Given the description of an element on the screen output the (x, y) to click on. 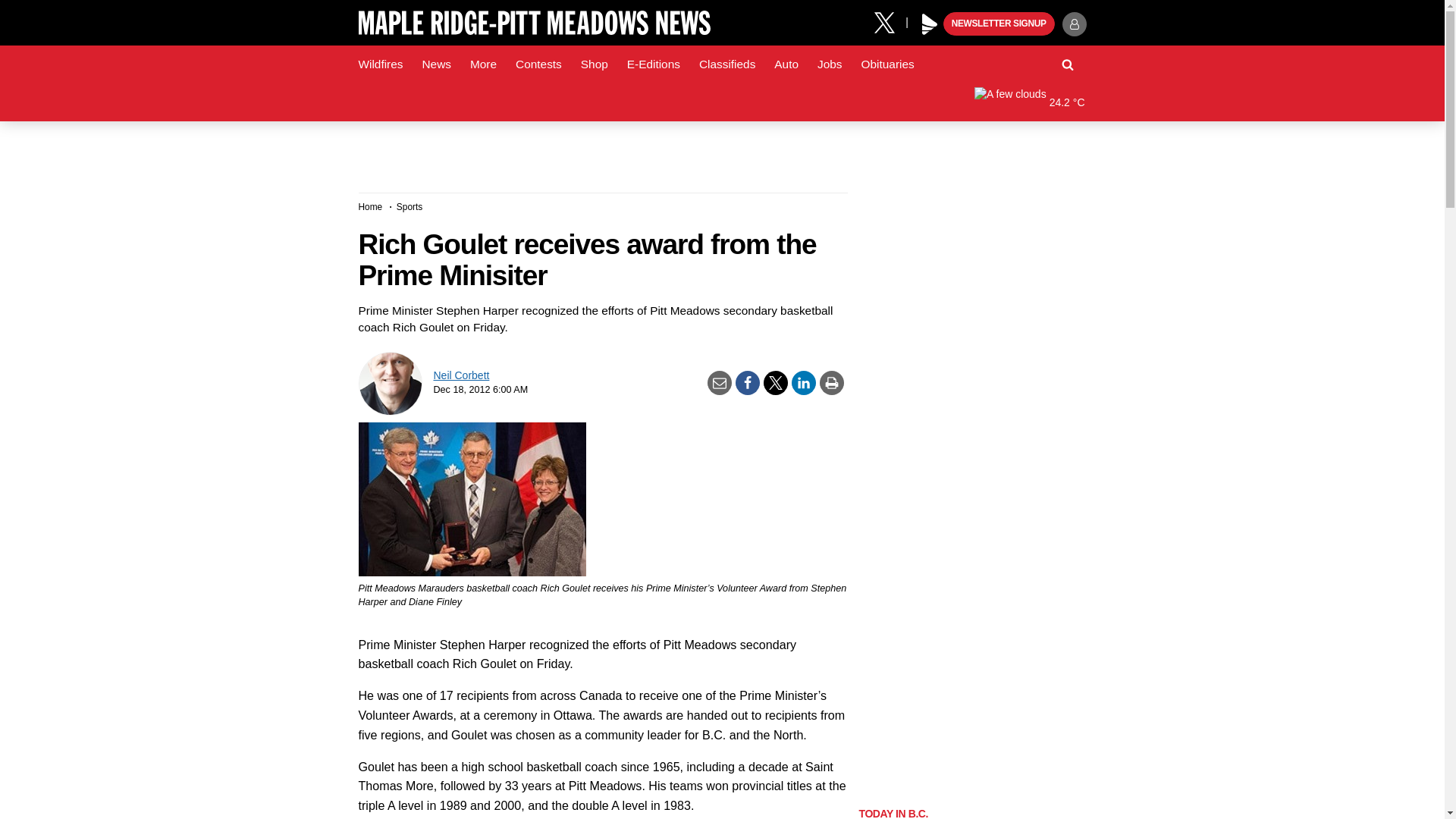
Wildfires (380, 64)
Play (929, 24)
News (435, 64)
X (889, 21)
NEWSLETTER SIGNUP (998, 24)
Black Press Media (929, 24)
